Given the description of an element on the screen output the (x, y) to click on. 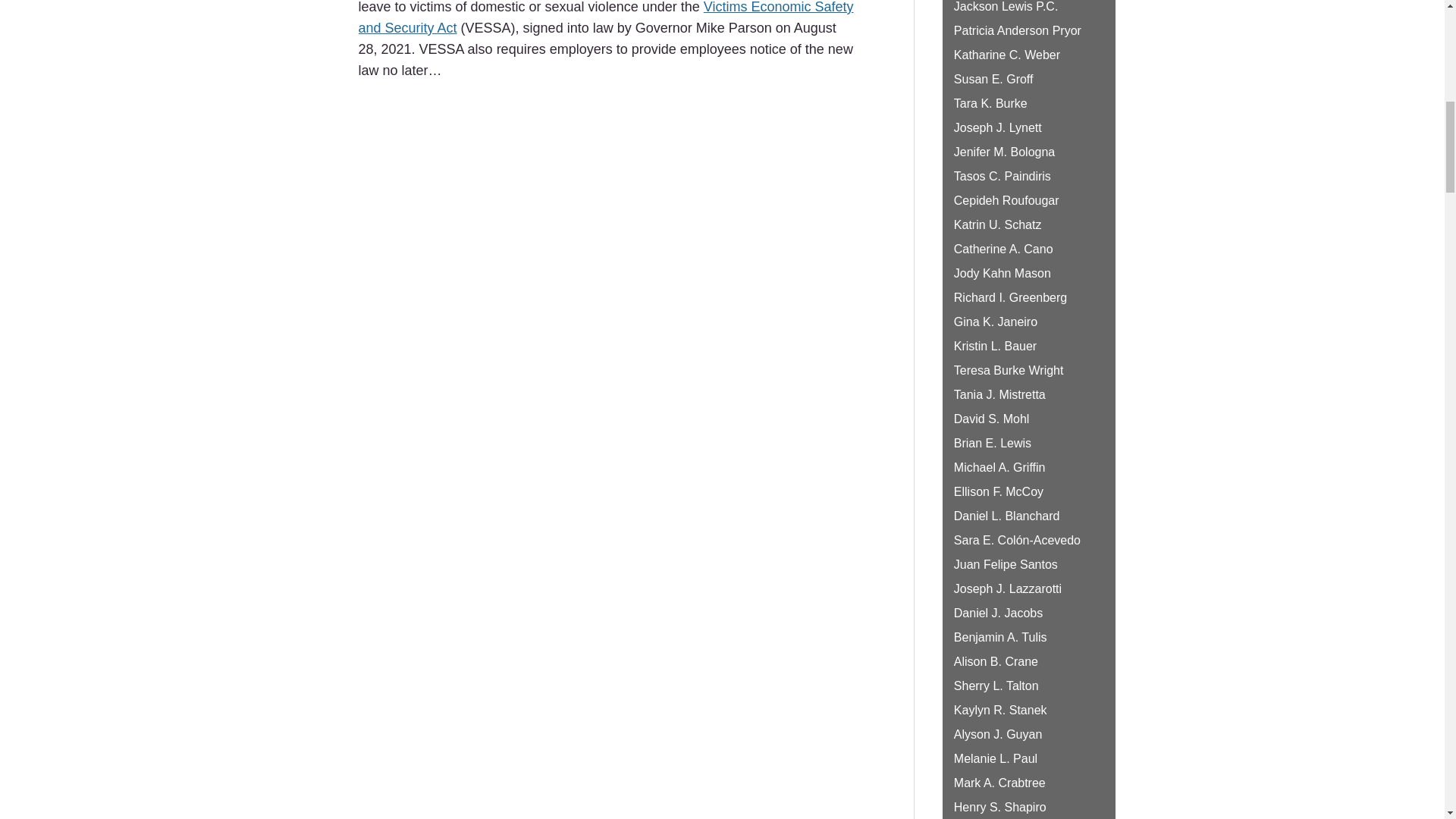
Catherine A. Cano (1002, 248)
Katrin U. Schatz (997, 224)
Cepideh Roufougar (1006, 200)
Tasos C. Paindiris (1002, 175)
Jody Kahn Mason (1002, 273)
Jackson Lewis P.C. (1005, 6)
Katharine C. Weber (1006, 54)
Joseph J. Lynett (997, 127)
Tara K. Burke (990, 103)
Susan E. Groff (993, 78)
